Given the description of an element on the screen output the (x, y) to click on. 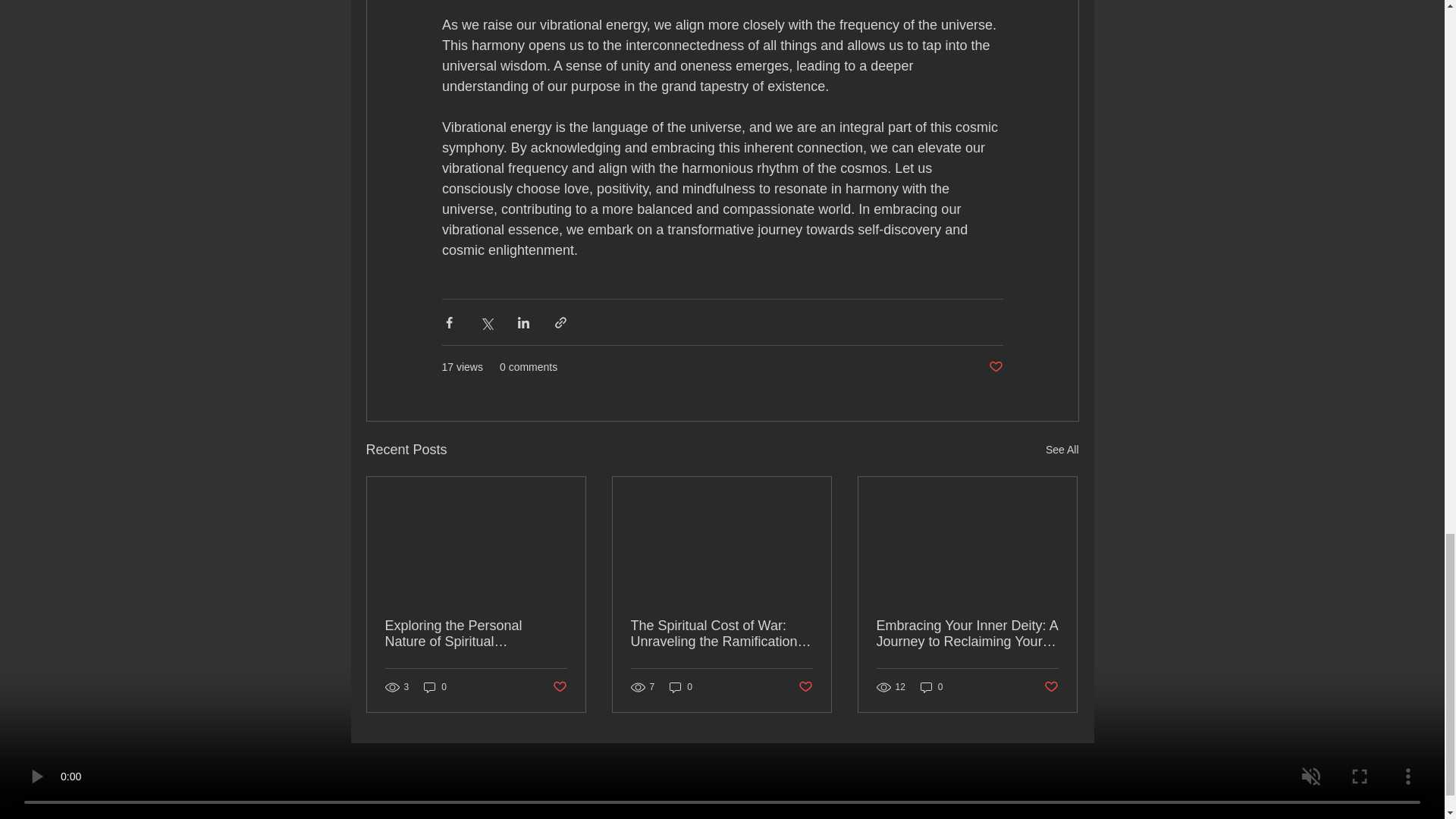
0 (681, 687)
See All (1061, 449)
0 (435, 687)
Post not marked as liked (995, 367)
Post not marked as liked (558, 687)
